Given the description of an element on the screen output the (x, y) to click on. 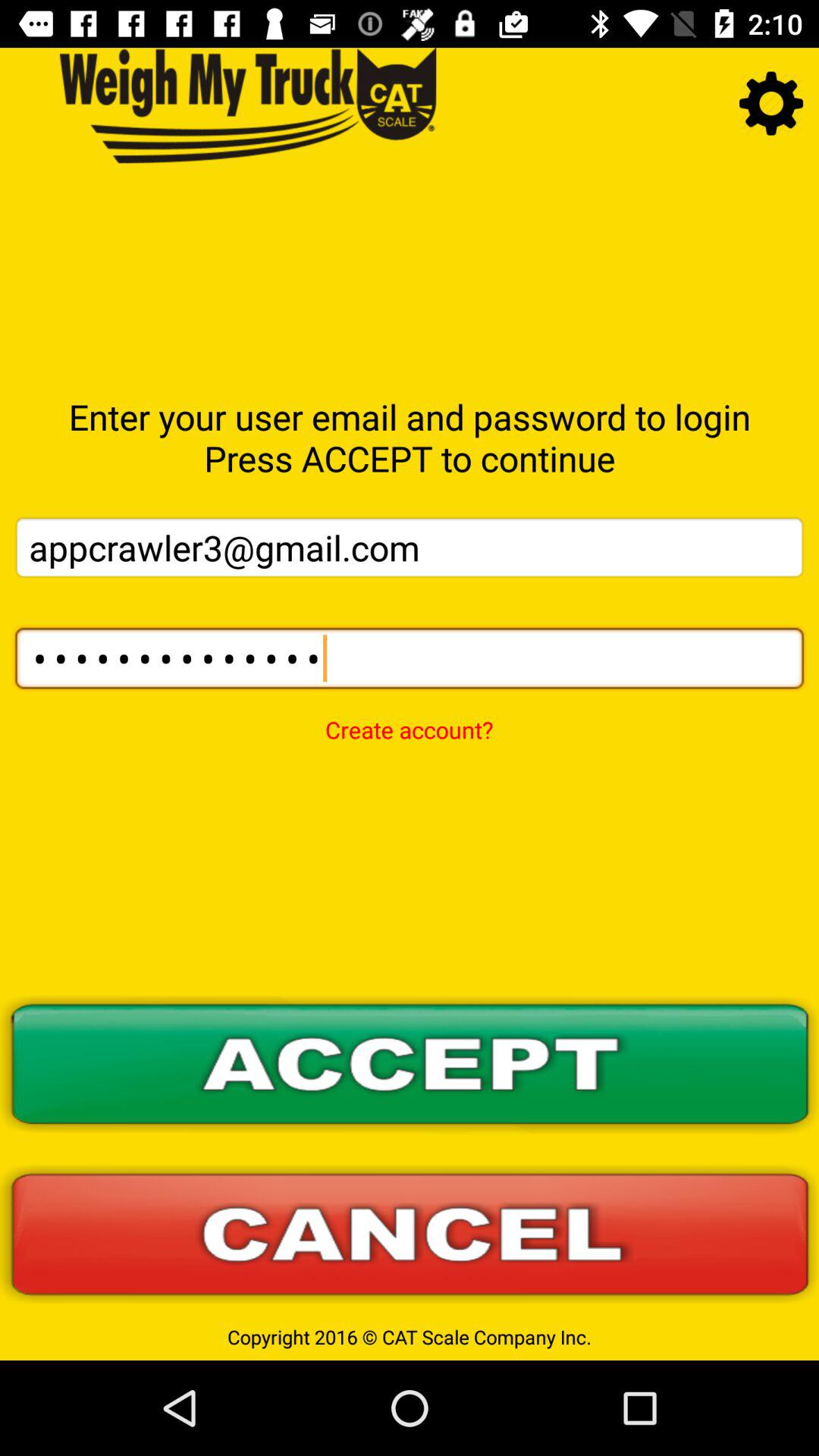
turn on the item above the appcrawler3116 (409, 546)
